Given the description of an element on the screen output the (x, y) to click on. 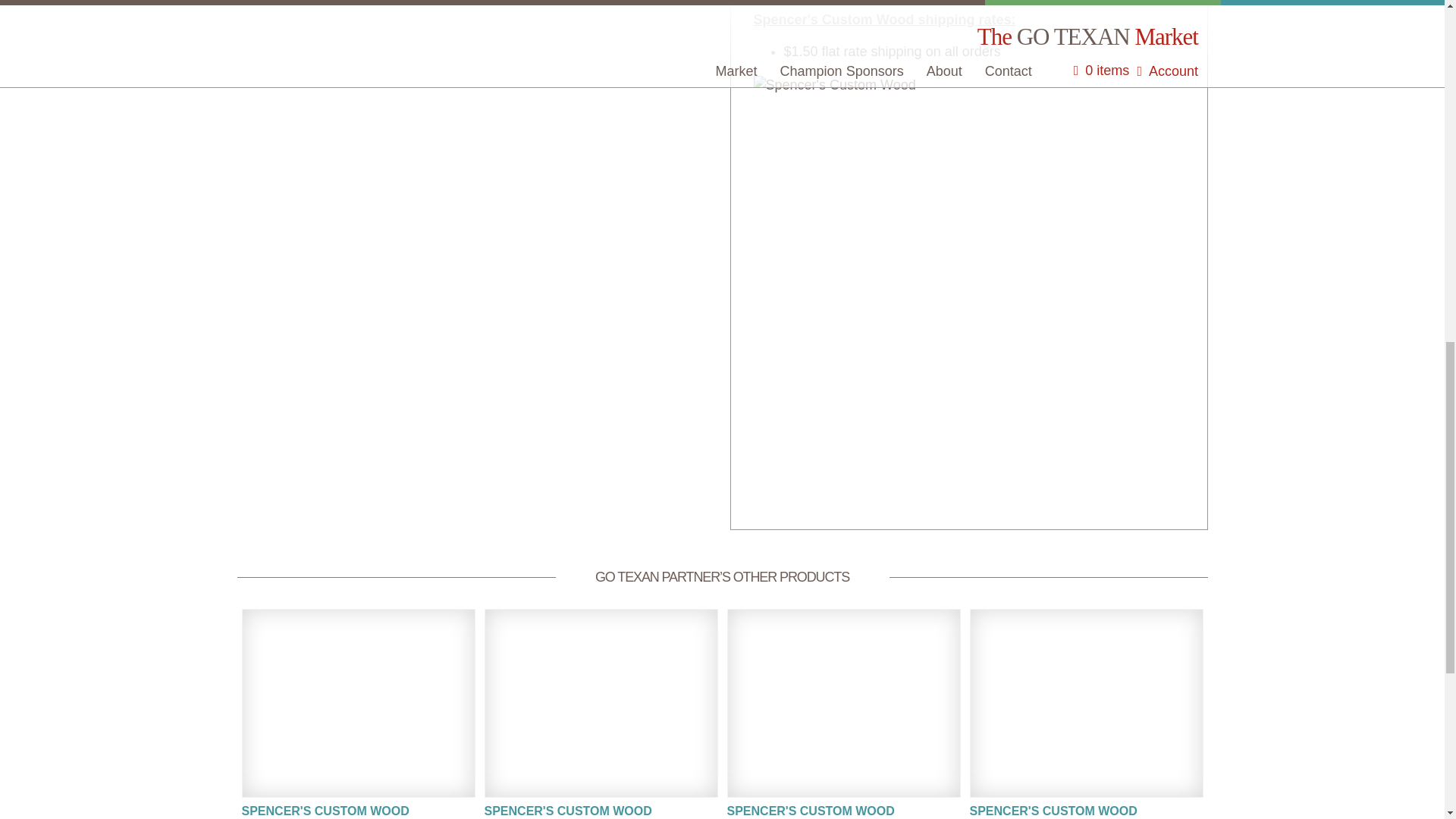
view (1085, 714)
view (842, 714)
view (357, 714)
view (600, 714)
